Given the description of an element on the screen output the (x, y) to click on. 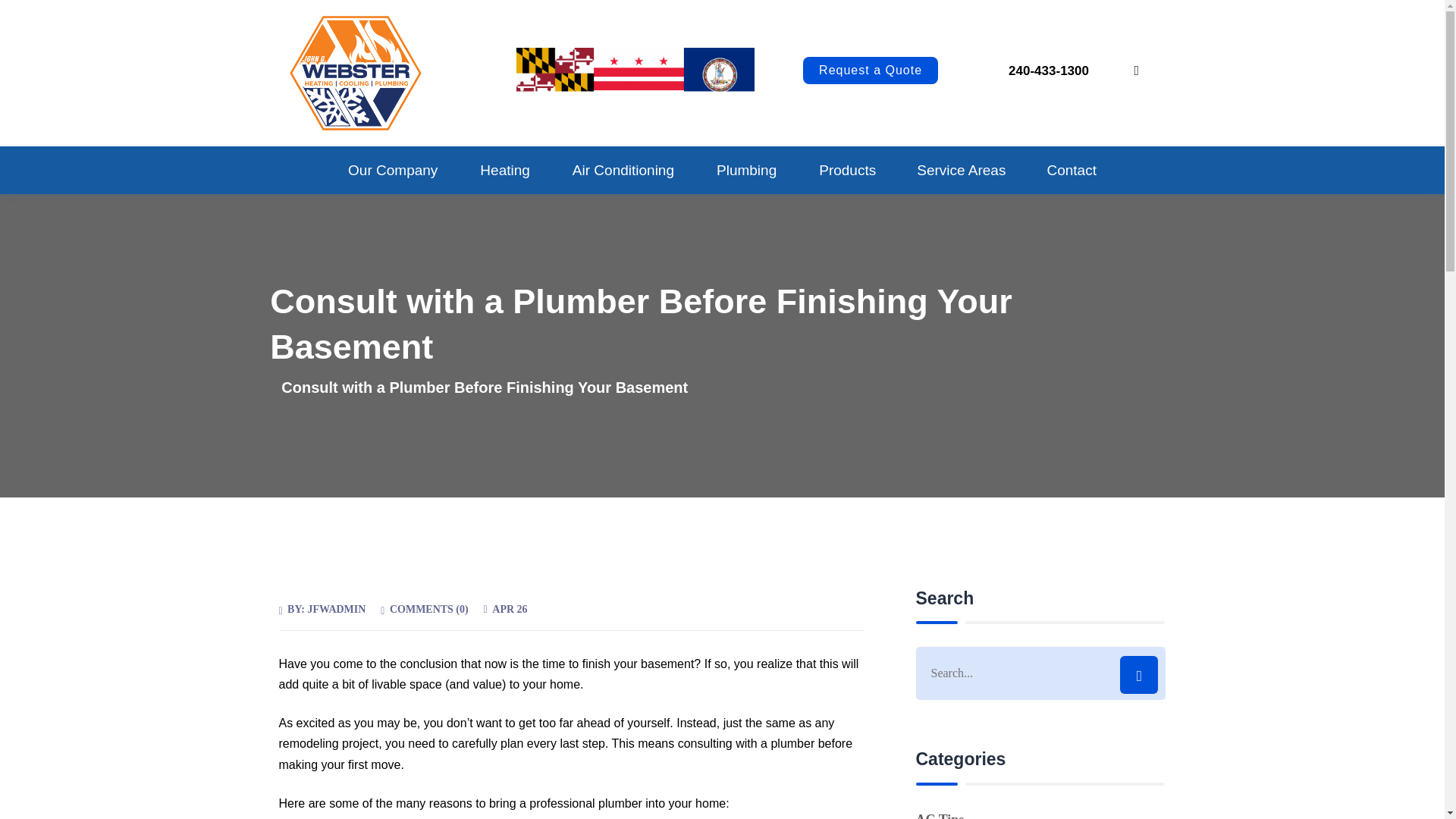
Heating (505, 169)
Consult with a Plumber Before Finishing Your Basement (484, 387)
240-433-1300 (1037, 70)
Request a Quote (870, 70)
Our Company (392, 169)
